Given the description of an element on the screen output the (x, y) to click on. 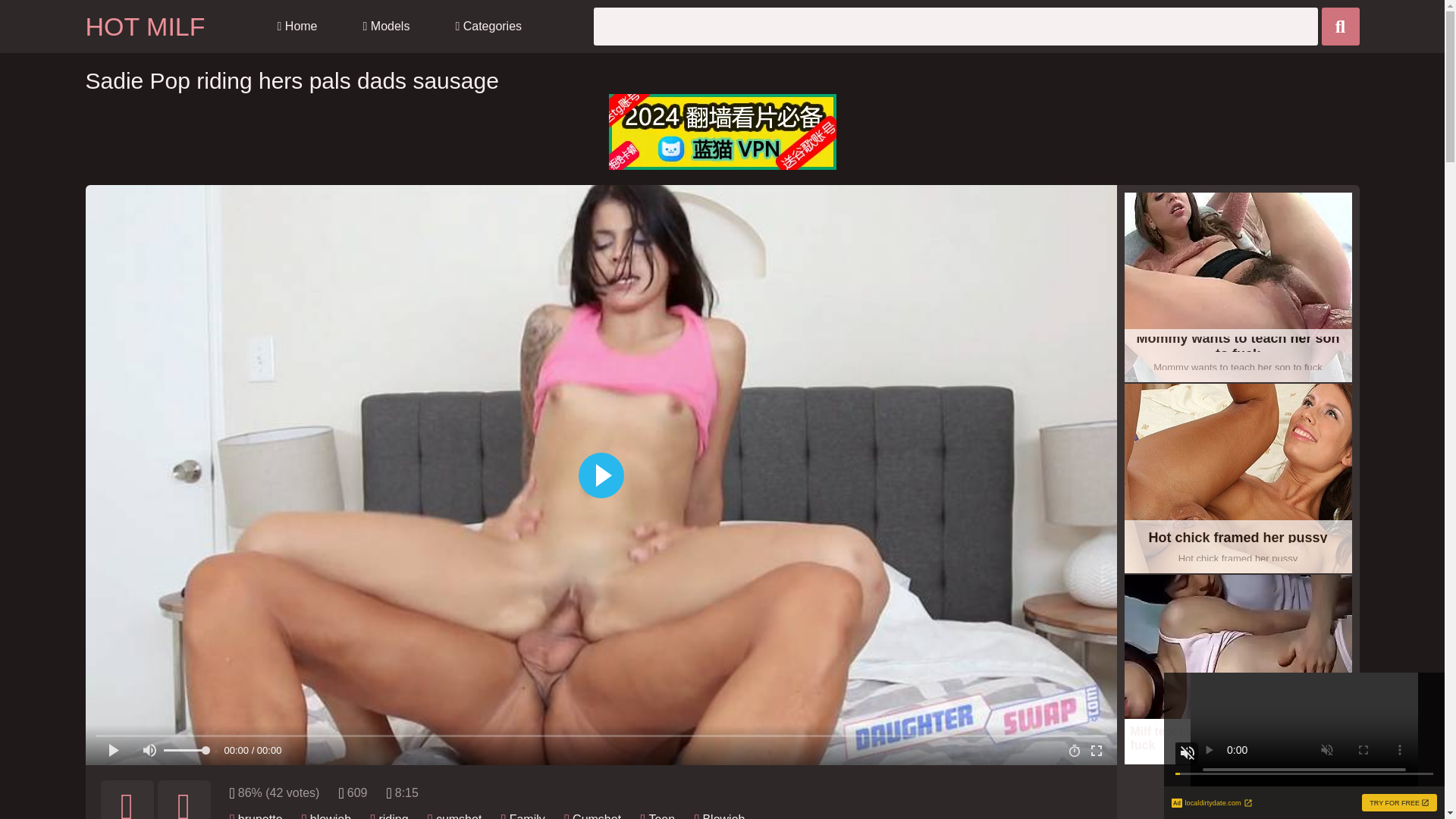
Blowjob (722, 816)
Family (526, 816)
Categories (488, 26)
Dislike! (184, 799)
cumshot (458, 816)
riding (392, 816)
brunette (1237, 478)
Cumshot (260, 816)
